Given the description of an element on the screen output the (x, y) to click on. 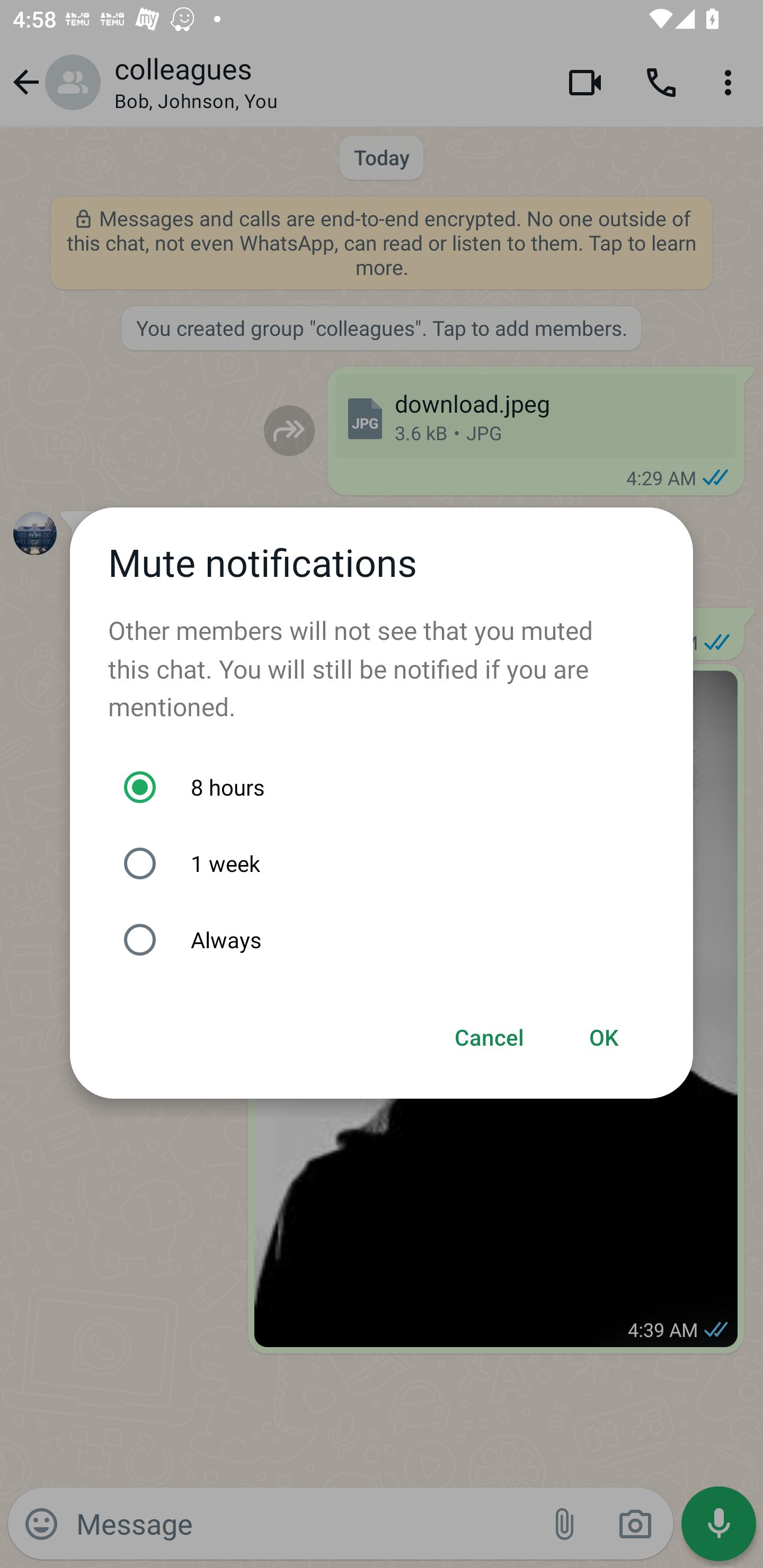
8 hours (390, 787)
1 week (390, 863)
Always (390, 939)
Cancel (489, 1037)
OK (603, 1037)
